Given the description of an element on the screen output the (x, y) to click on. 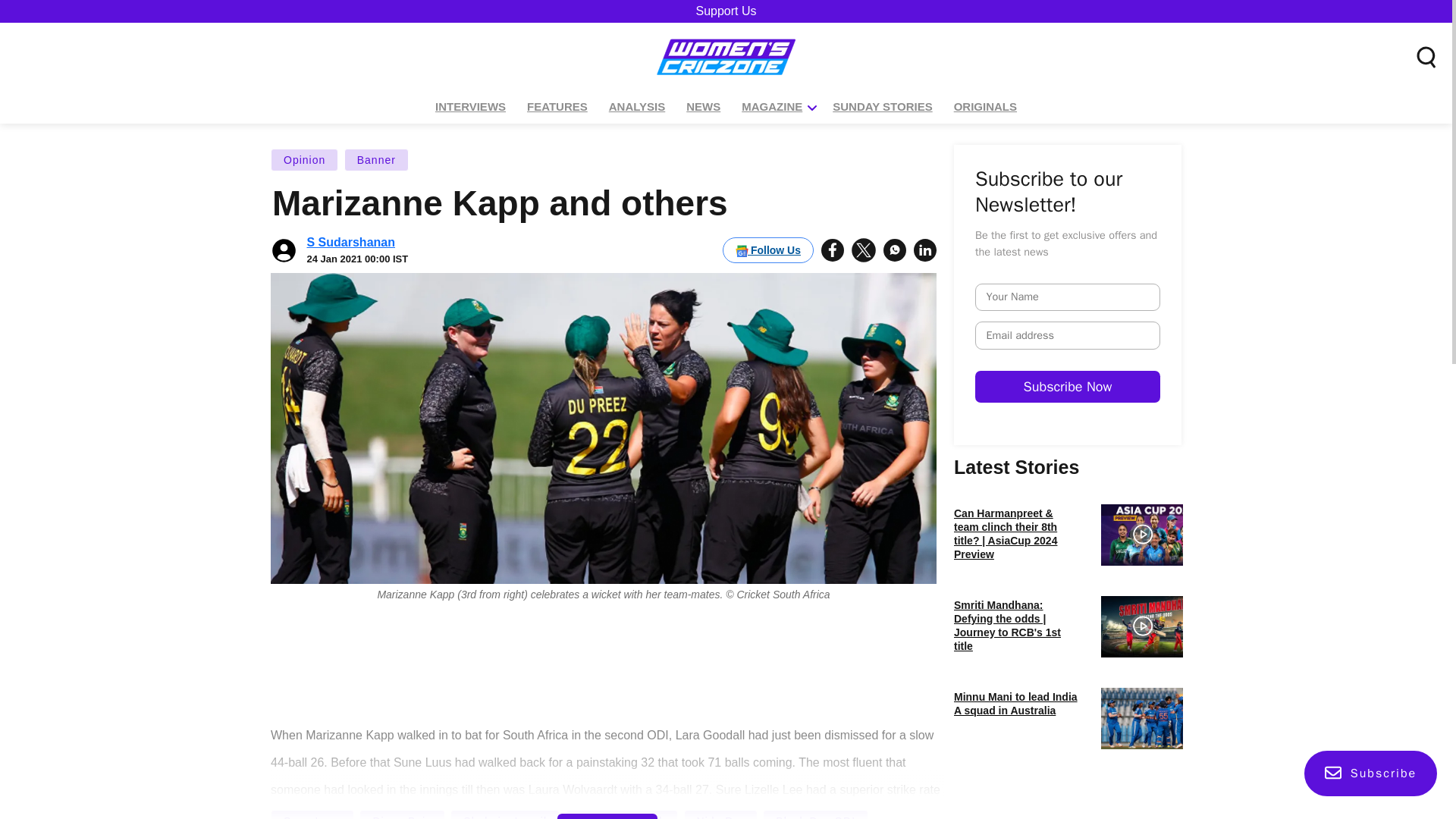
ORIGINALS (985, 106)
Opinion (303, 159)
Nida Dar (720, 814)
ANALYSIS (636, 106)
FEATURES (556, 106)
S Sudarshanan (350, 241)
Black Day ODI (814, 814)
SUNDAY STORIES (882, 106)
MAGAZINE (772, 106)
Sune Luus (311, 814)
Follow Us (767, 249)
NEWS (703, 106)
Nadine de Klerk (622, 814)
Banner (376, 159)
Diana Baig (402, 814)
